Given the description of an element on the screen output the (x, y) to click on. 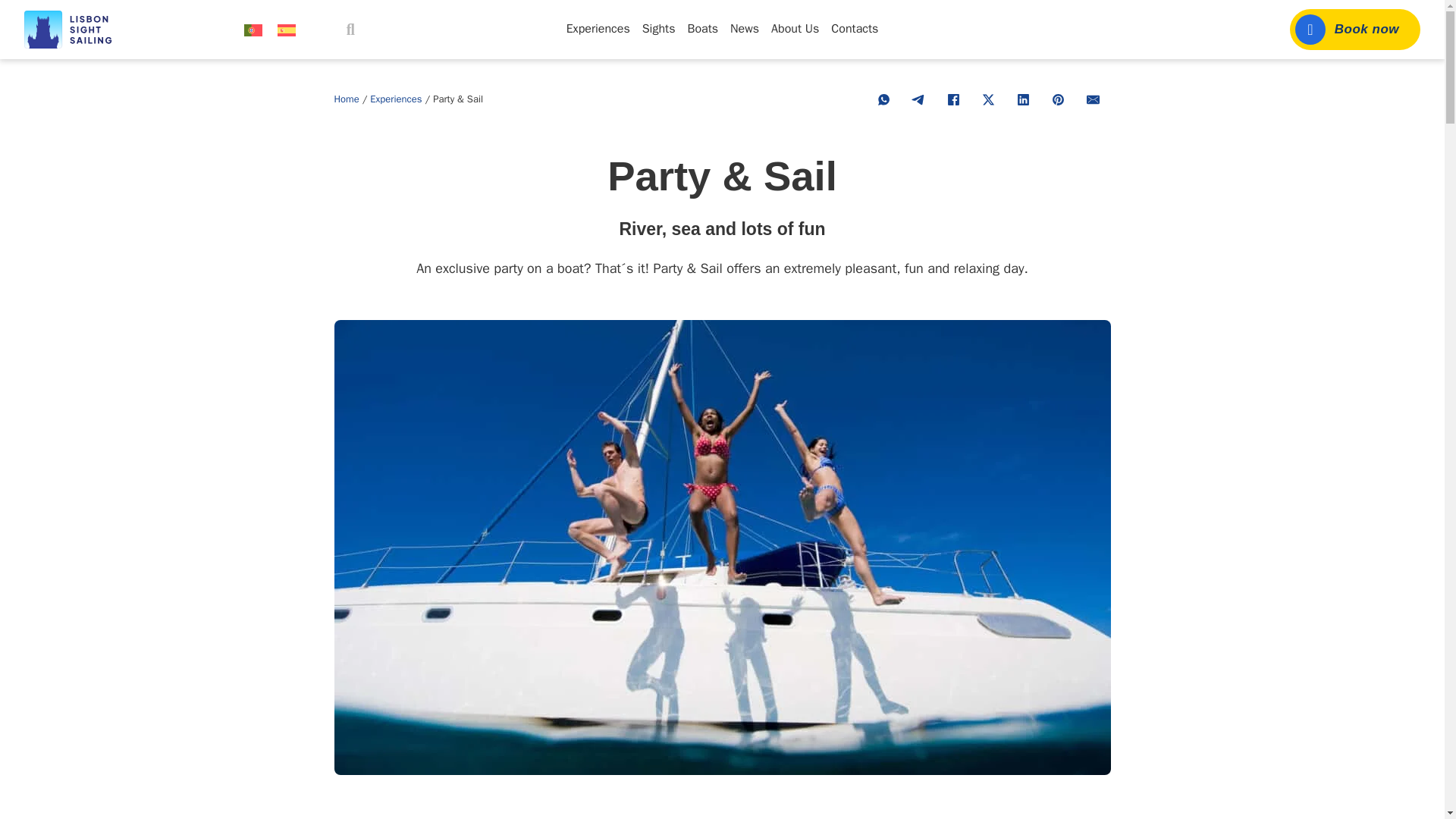
Lisbon Sight Sailing (73, 29)
Boats (702, 29)
Experiences (395, 98)
News (744, 29)
Experiences (598, 29)
Sights (658, 29)
Book now (1355, 29)
Contacts (854, 29)
Home (345, 98)
About Us (794, 29)
